Given the description of an element on the screen output the (x, y) to click on. 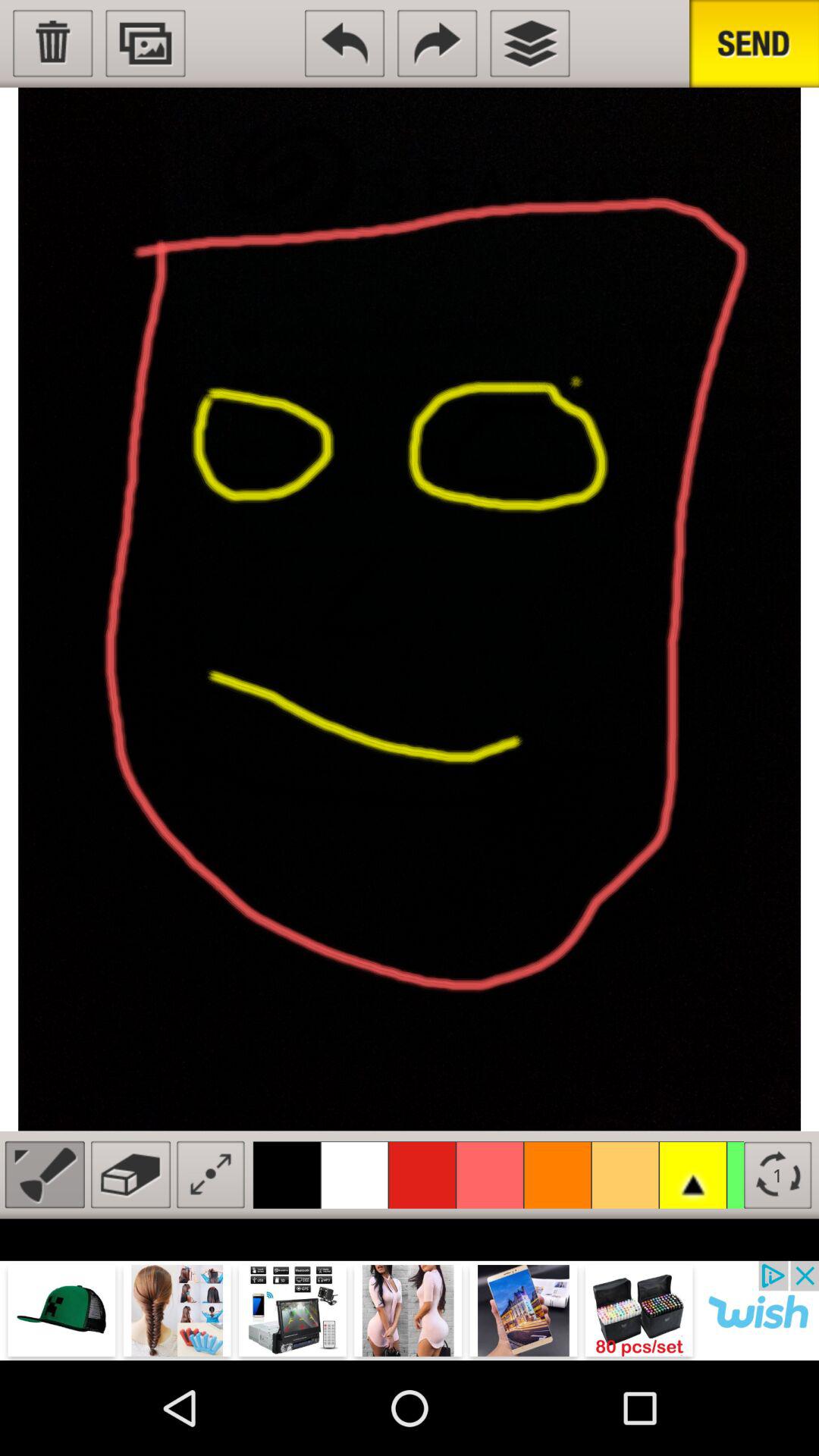
open layers panel (529, 43)
